Given the description of an element on the screen output the (x, y) to click on. 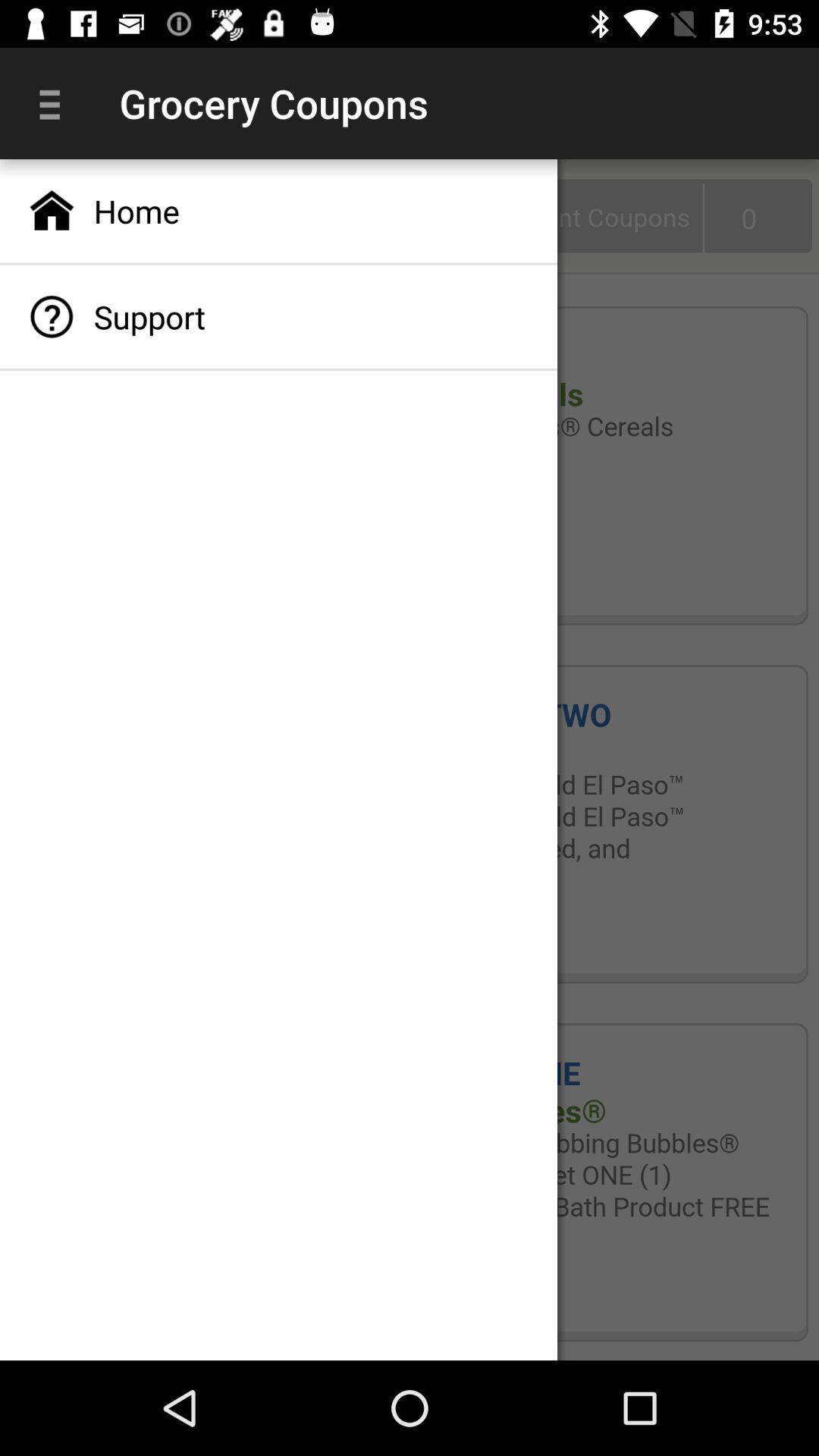
launch the item next to grocery coupons (55, 103)
